Given the description of an element on the screen output the (x, y) to click on. 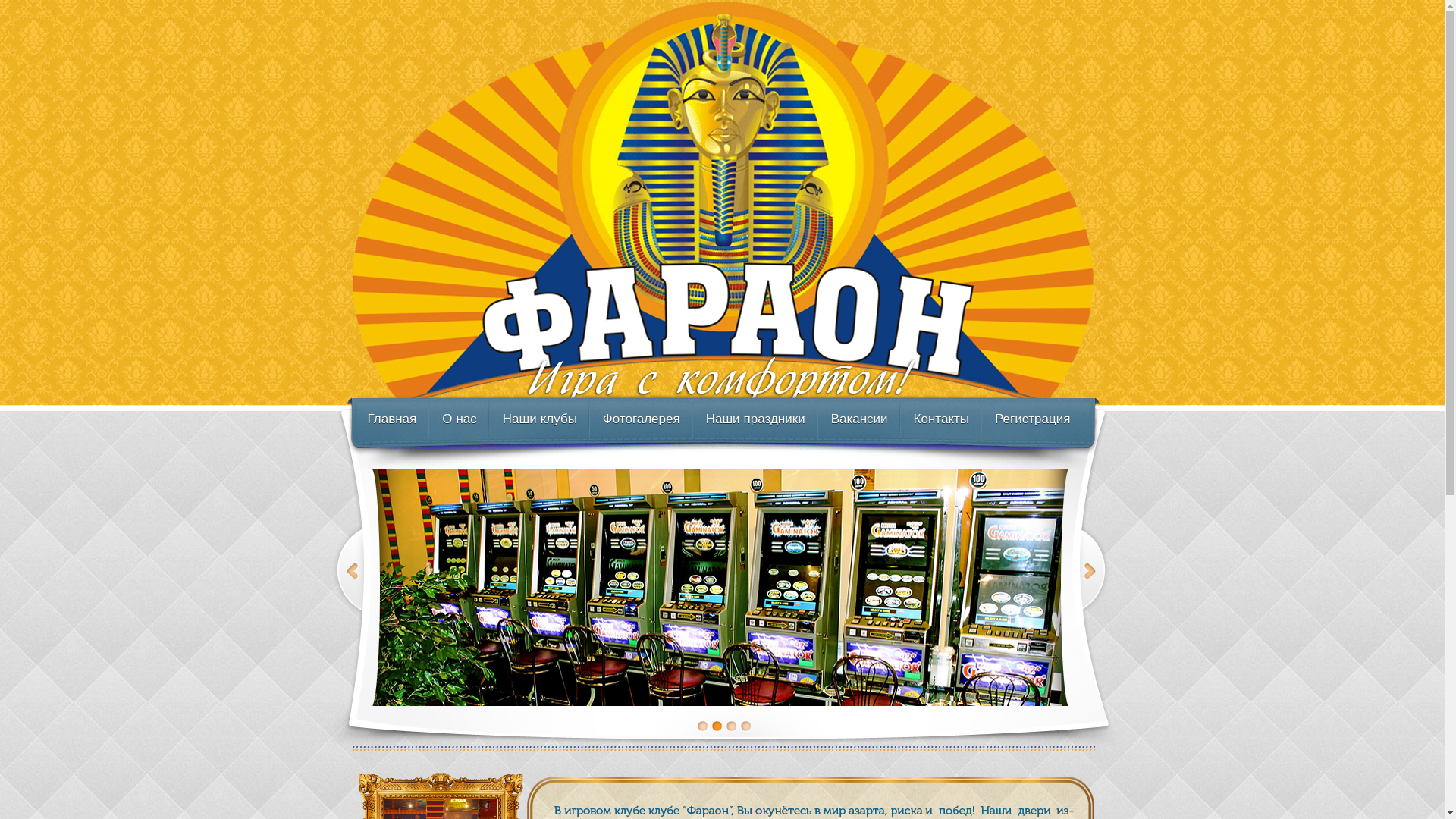
2 Element type: text (715, 725)
Previous Element type: text (349, 586)
3 Element type: text (730, 725)
1 Element type: text (701, 725)
4 Element type: text (743, 725)
Next Element type: text (1091, 586)
